Given the description of an element on the screen output the (x, y) to click on. 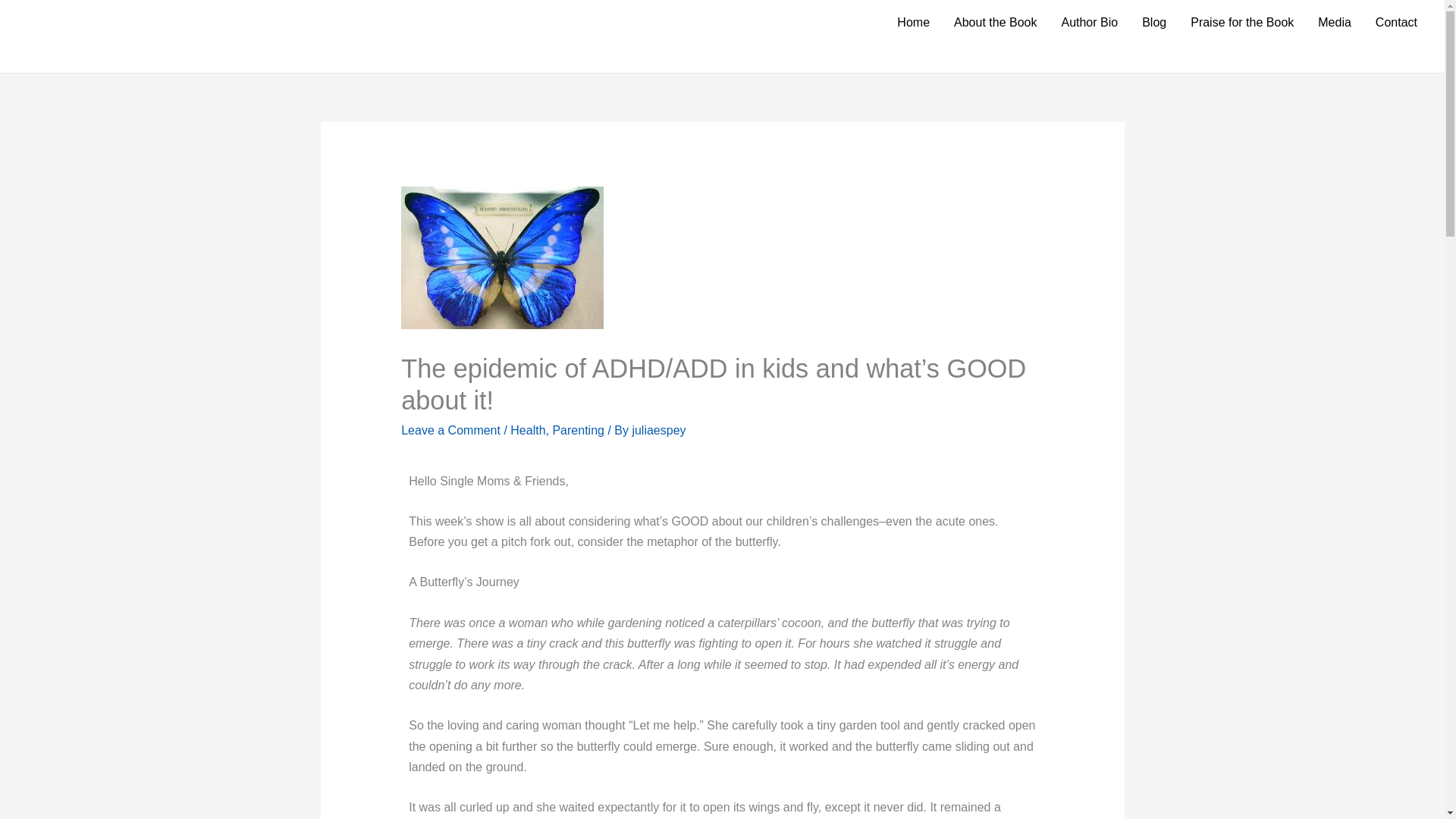
juliaespey (658, 430)
Author Bio (1088, 22)
Media (1334, 22)
Health (527, 430)
Praise for the Book (1241, 22)
Home (913, 22)
Leave a Comment (450, 430)
Blog (1153, 22)
About the Book (995, 22)
View all posts by juliaespey (658, 430)
Contact (1395, 22)
Parenting (577, 430)
